Given the description of an element on the screen output the (x, y) to click on. 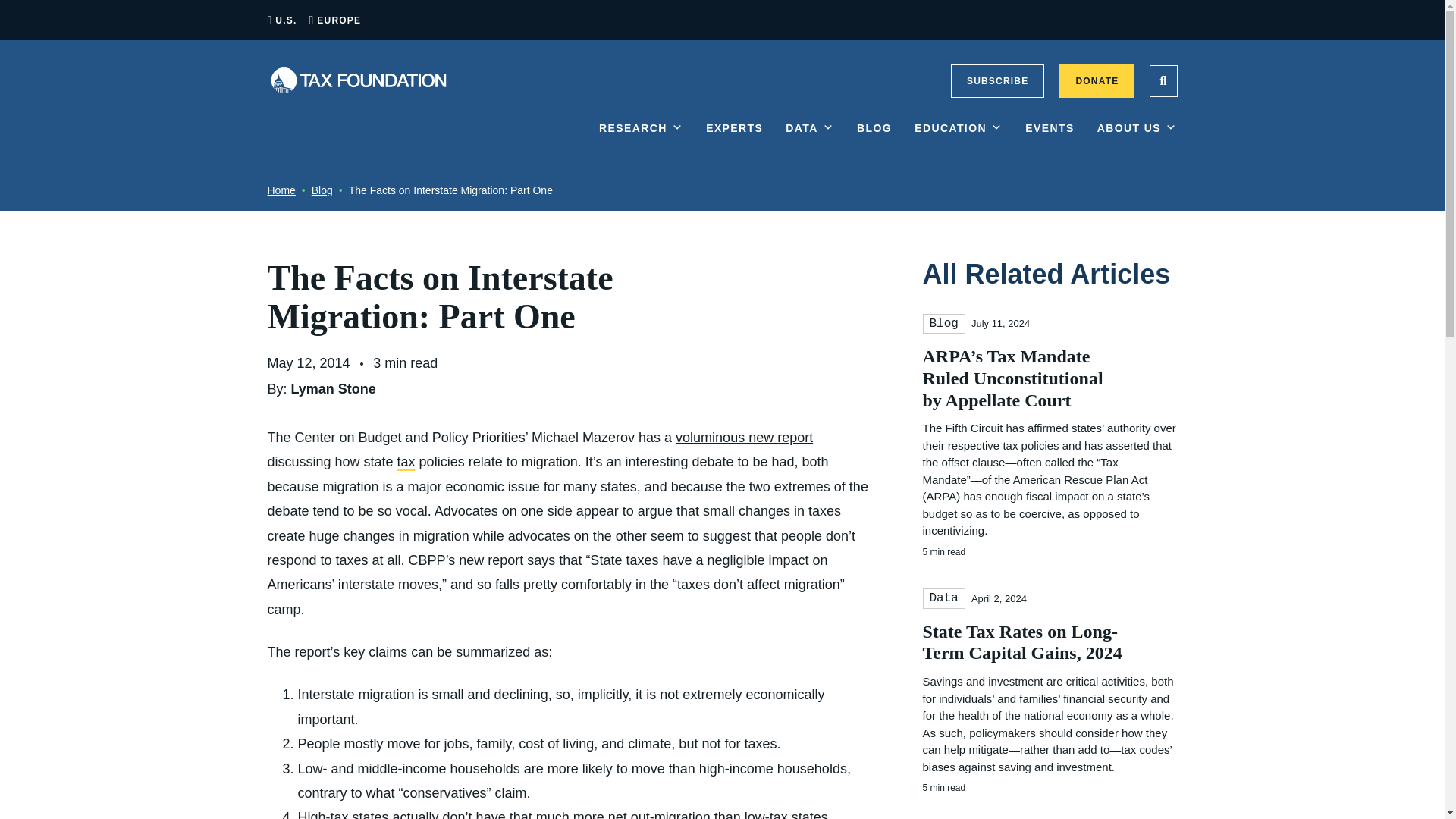
EUROPE (339, 20)
Tax Foundation (357, 80)
SUBSCRIBE (996, 80)
RESEARCH (640, 140)
DATA (810, 140)
DONATE (1096, 80)
U.S. (286, 20)
EXPERTS (734, 140)
